Given the description of an element on the screen output the (x, y) to click on. 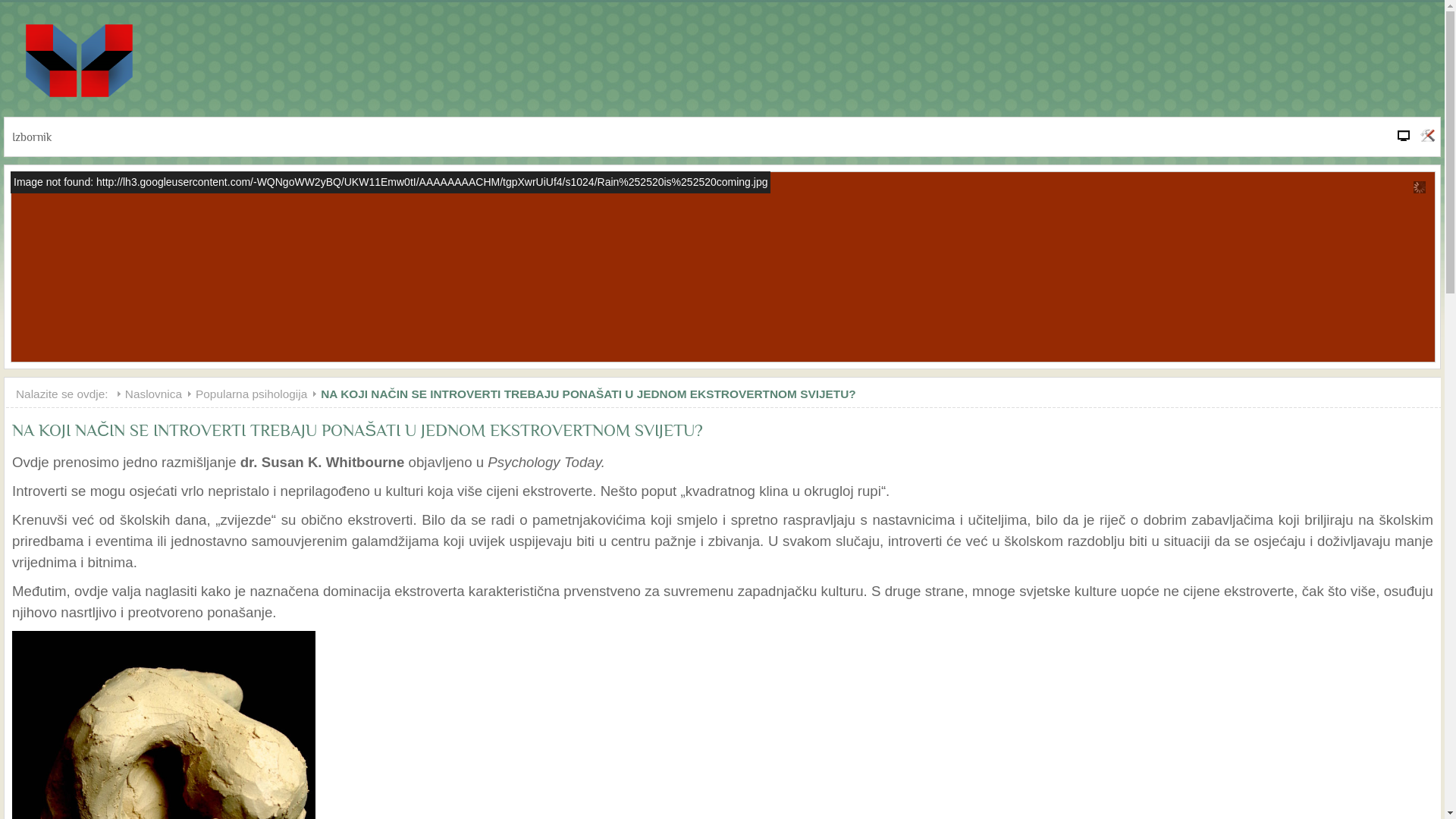
Naslovnica Element type: text (160, 393)
Popularna psihologija Element type: text (257, 393)
